Given the description of an element on the screen output the (x, y) to click on. 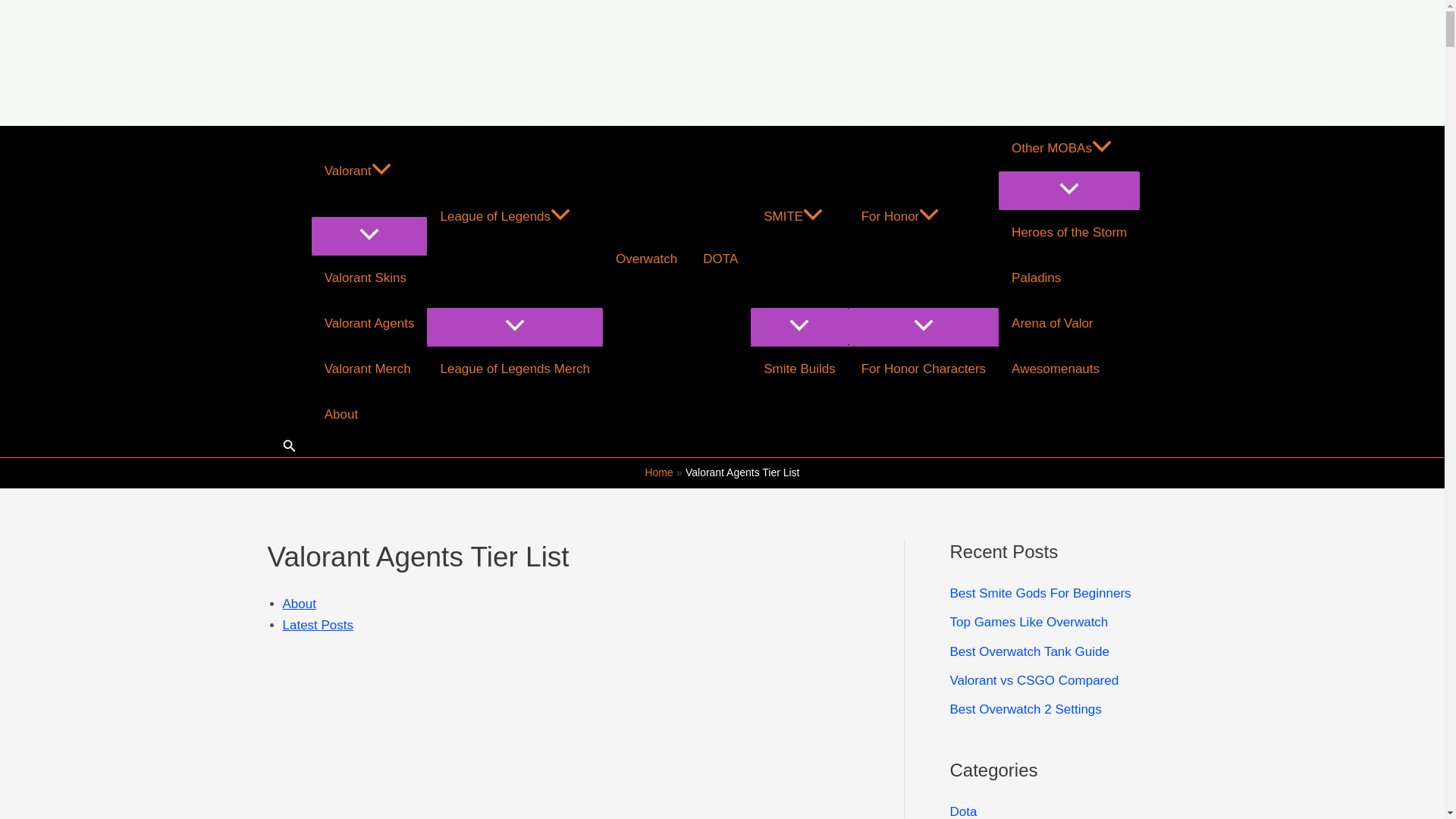
Paladins (1069, 278)
Menu Toggle (923, 325)
Menu Toggle (799, 325)
Heroes of the Storm (1069, 232)
Menu Toggle (369, 235)
Arena of Valor (1069, 323)
Menu Toggle (514, 325)
Smite Builds (799, 369)
Valorant Agents (369, 323)
League of Legends Merch (514, 369)
Other MOBAs (1069, 148)
Awesomenauts (1069, 369)
Valorant Merch (369, 369)
League of Legends (514, 216)
For Honor Characters (923, 369)
